Given the description of an element on the screen output the (x, y) to click on. 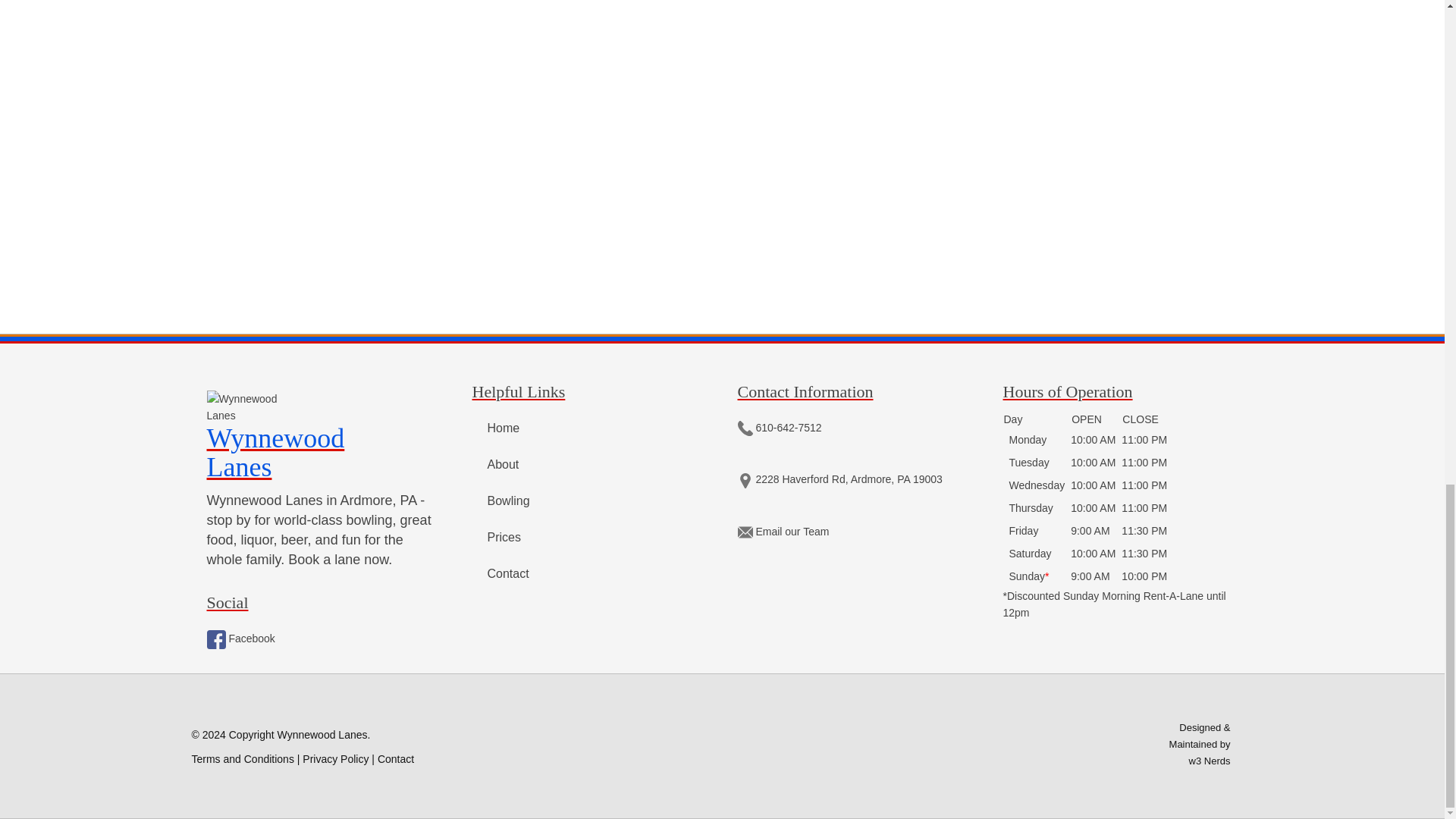
Bowling (507, 501)
Home (502, 428)
Email our Team (782, 531)
Contact (507, 574)
2228 Haverford Rd, Ardmore, PA 19003 (839, 478)
Contact (395, 758)
610-642-7512 (778, 427)
Terms and Conditions (242, 758)
Facebook (323, 435)
